Given the description of an element on the screen output the (x, y) to click on. 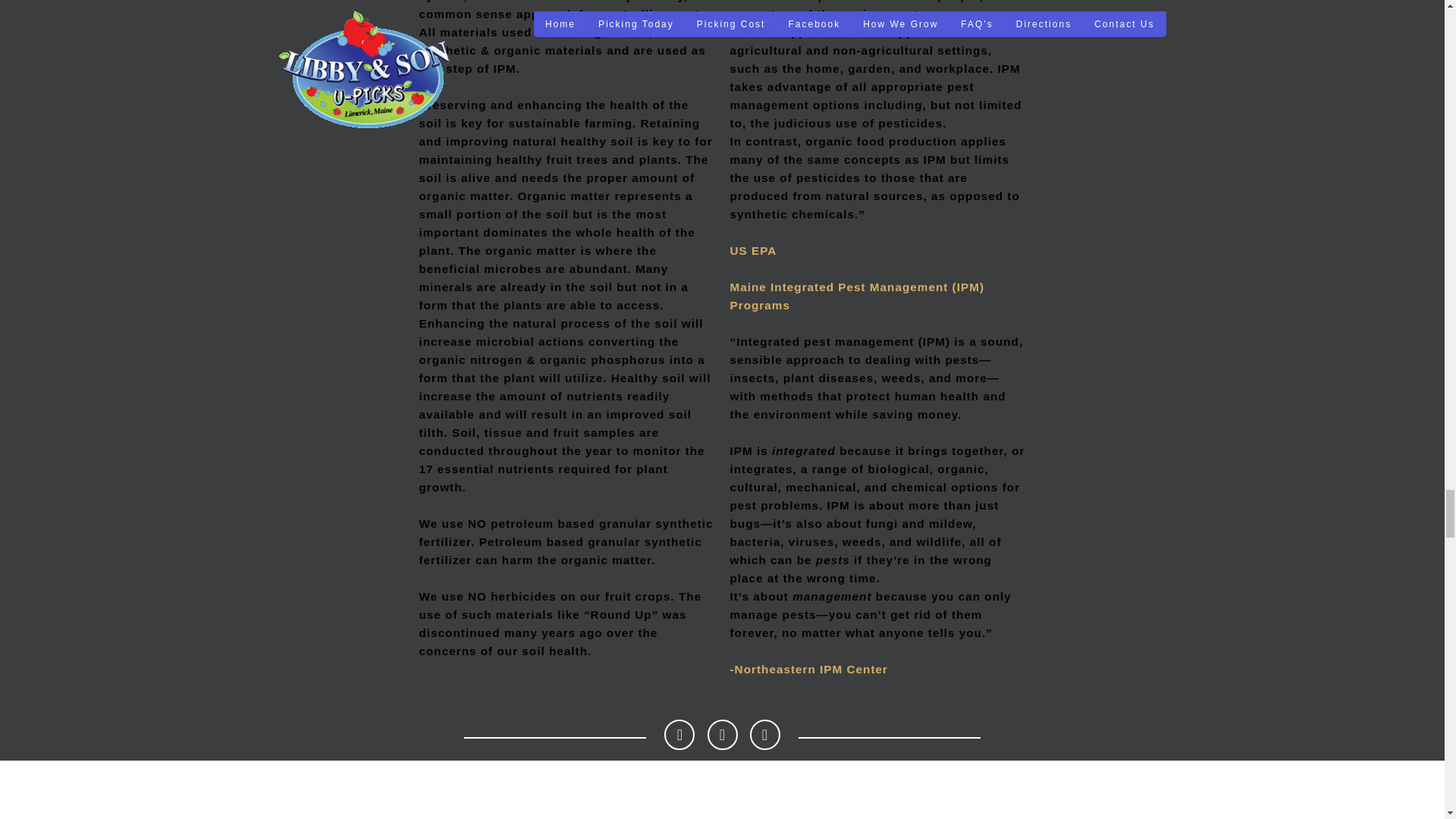
US EPA (752, 250)
-Northeastern IPM Center (807, 668)
